Given the description of an element on the screen output the (x, y) to click on. 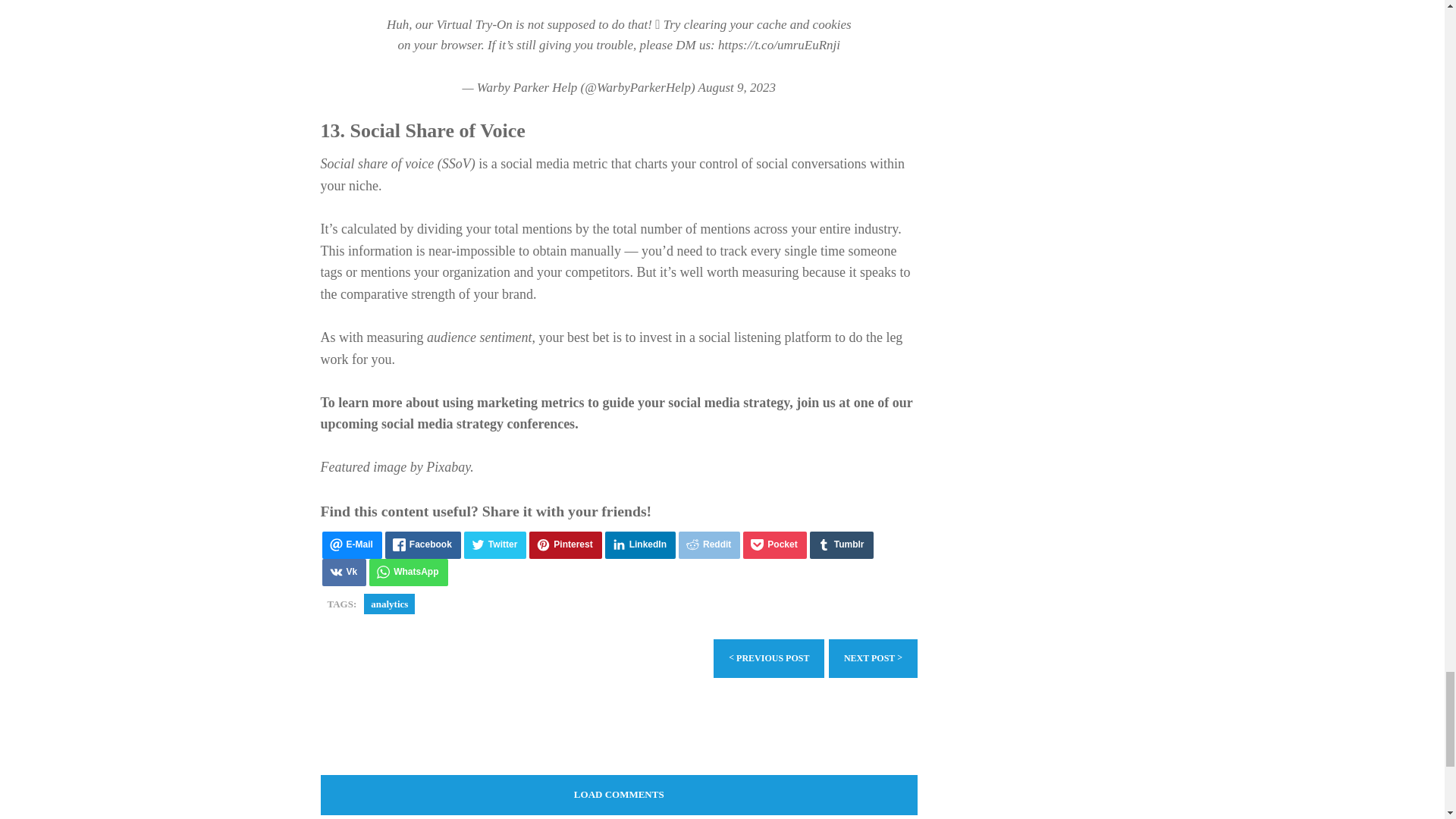
How Much to Charge for Social Media Management (872, 658)
August 9, 2023 (737, 87)
Pixabay (448, 467)
social media strategy conferences (478, 423)
10 Higher Ed Marketers You Should Follow (768, 658)
